Given the description of an element on the screen output the (x, y) to click on. 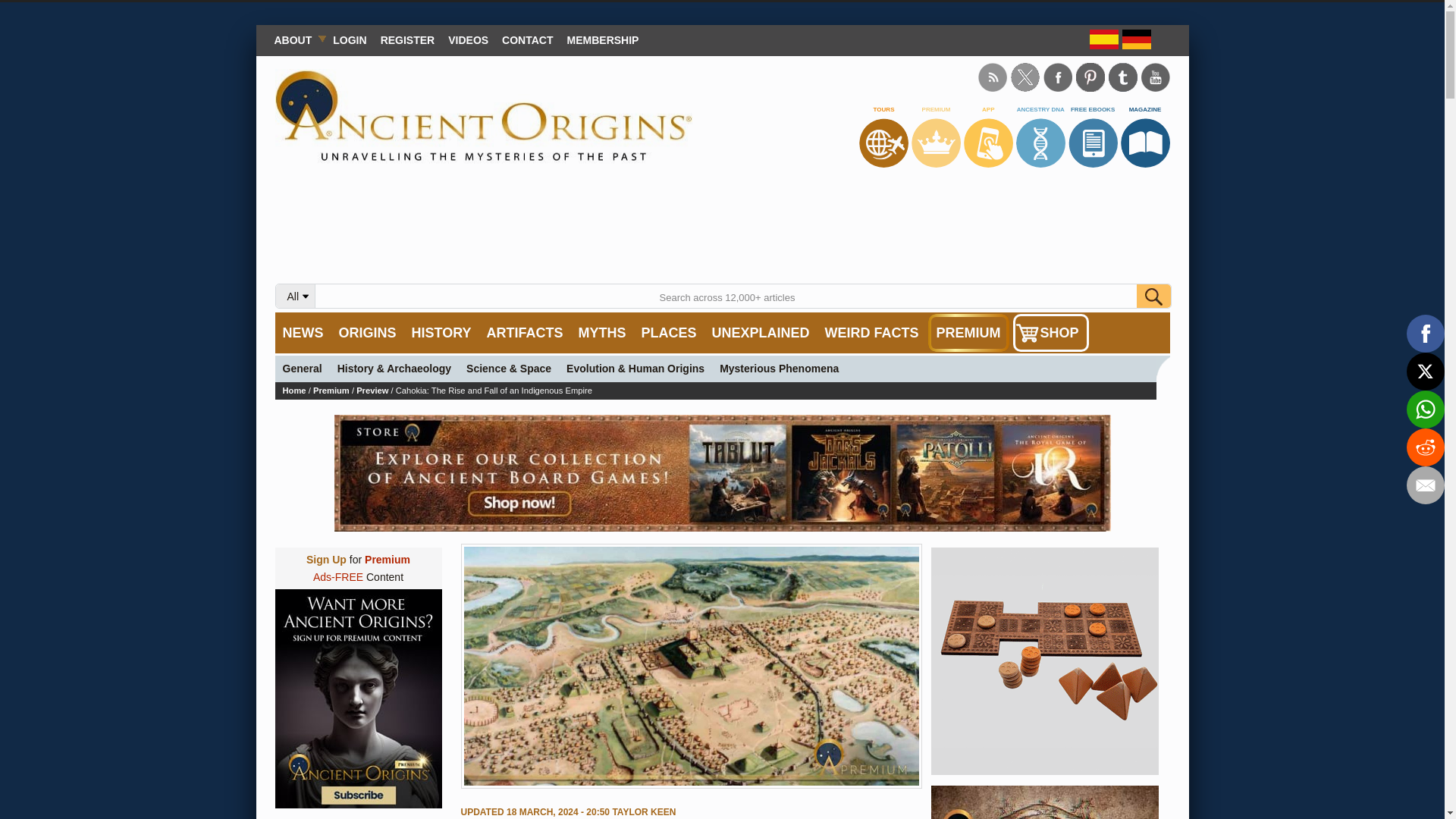
CONTACT (526, 40)
REGISTER (408, 40)
MEMBERSHIP (603, 40)
LOGIN (349, 40)
Find (1152, 295)
VIDEOS (468, 40)
Video Gallery (468, 40)
Login (349, 40)
Contact us (526, 40)
Become a registered user (408, 40)
ABOUT (296, 40)
Our Mission (296, 40)
